Given the description of an element on the screen output the (x, y) to click on. 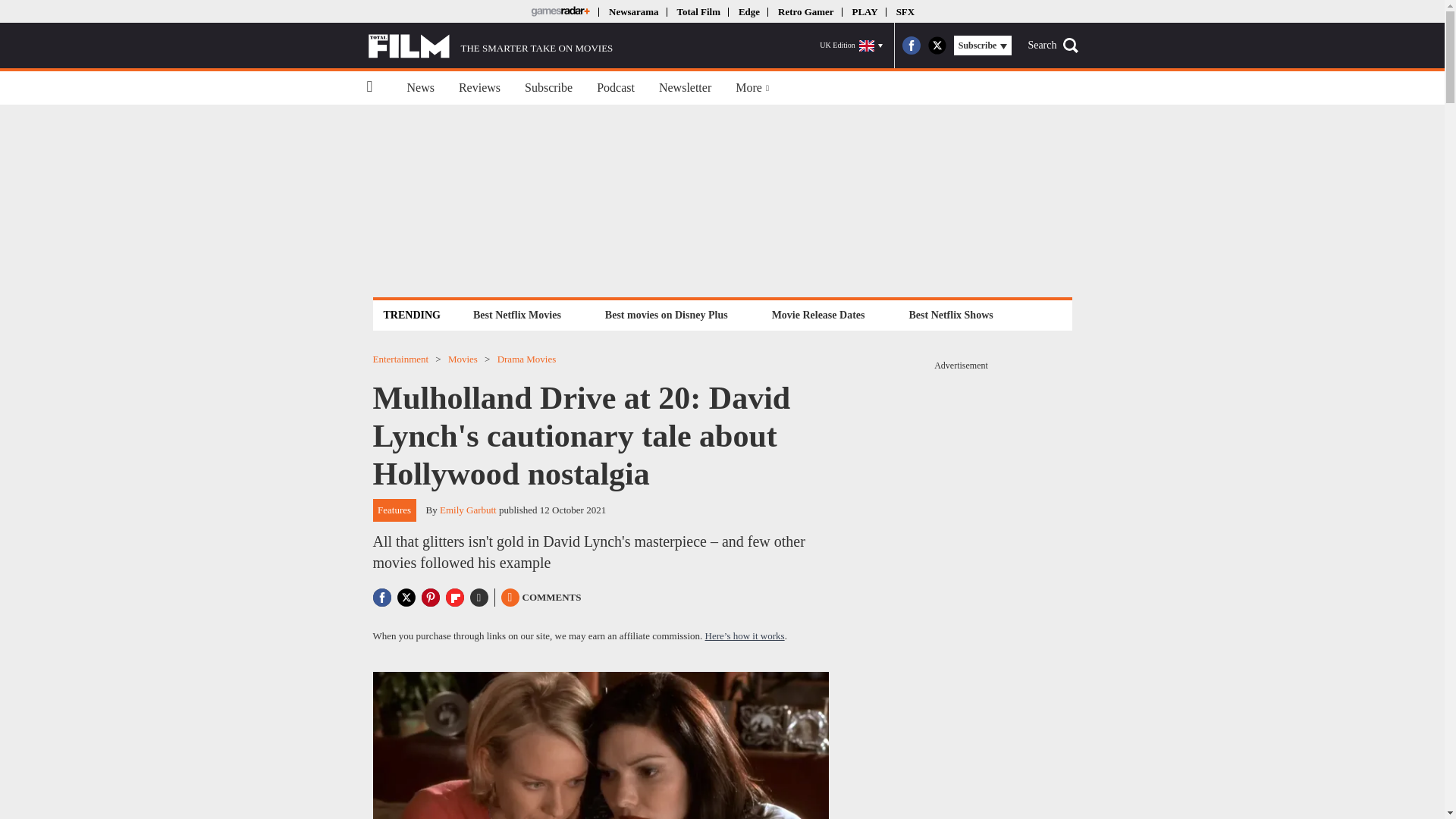
Reviews (479, 87)
Movie Release Dates (818, 314)
Edge (749, 11)
Podcast (615, 87)
SFX (905, 11)
PLAY (864, 11)
Subscribe (548, 87)
Newsletter (684, 87)
Best Netflix Movies (516, 314)
THE SMARTER TAKE ON MOVIES (489, 44)
UK Edition (850, 45)
News (419, 87)
Retro Gamer (805, 11)
Best movies on Disney Plus (666, 314)
Newsarama (633, 11)
